Given the description of an element on the screen output the (x, y) to click on. 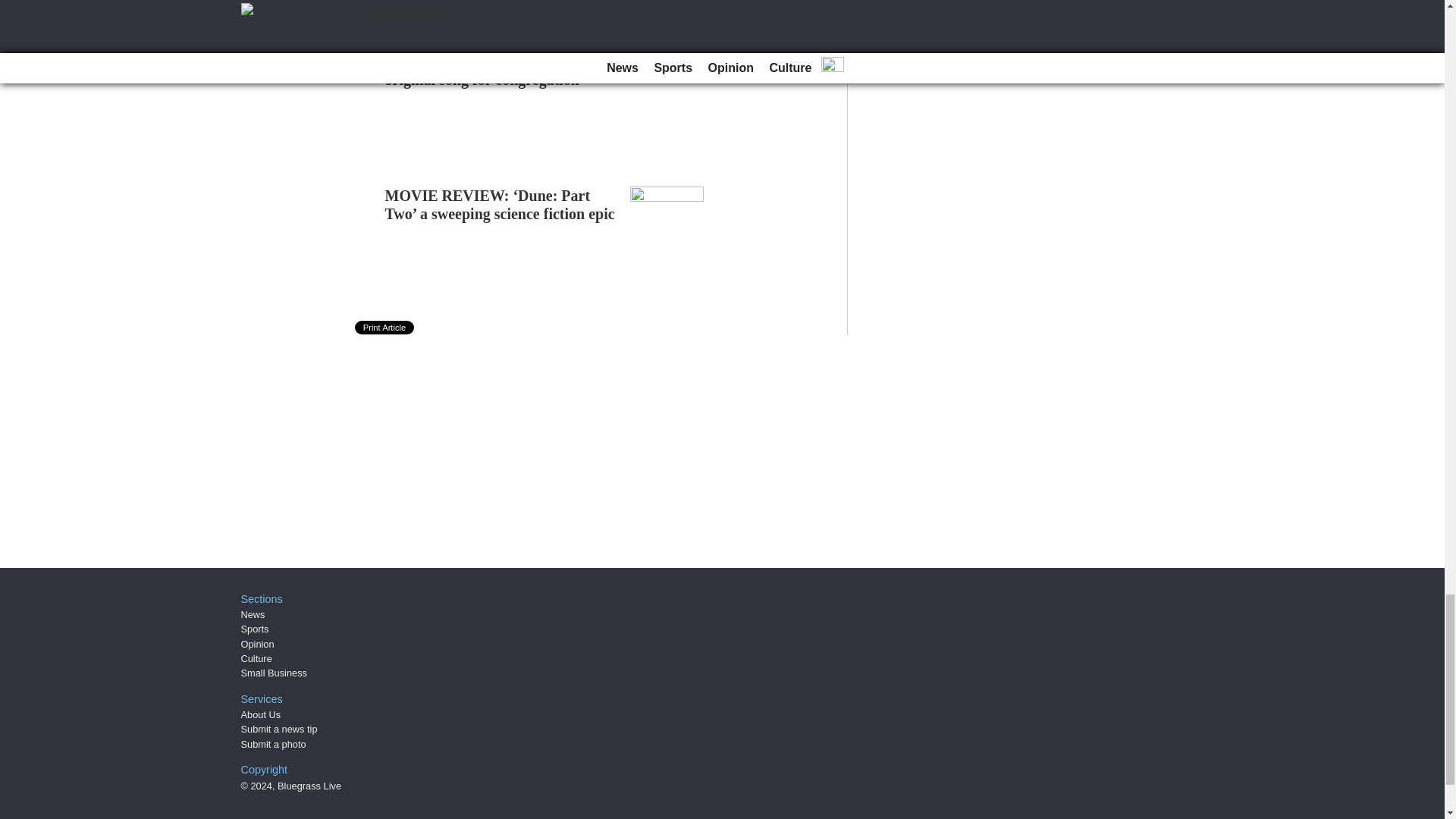
Print Article (384, 327)
Submit a photo (273, 744)
News (252, 614)
Culture (256, 658)
About Us (261, 714)
Sports (255, 628)
Submit a news tip (279, 728)
Opinion (258, 644)
